Given the description of an element on the screen output the (x, y) to click on. 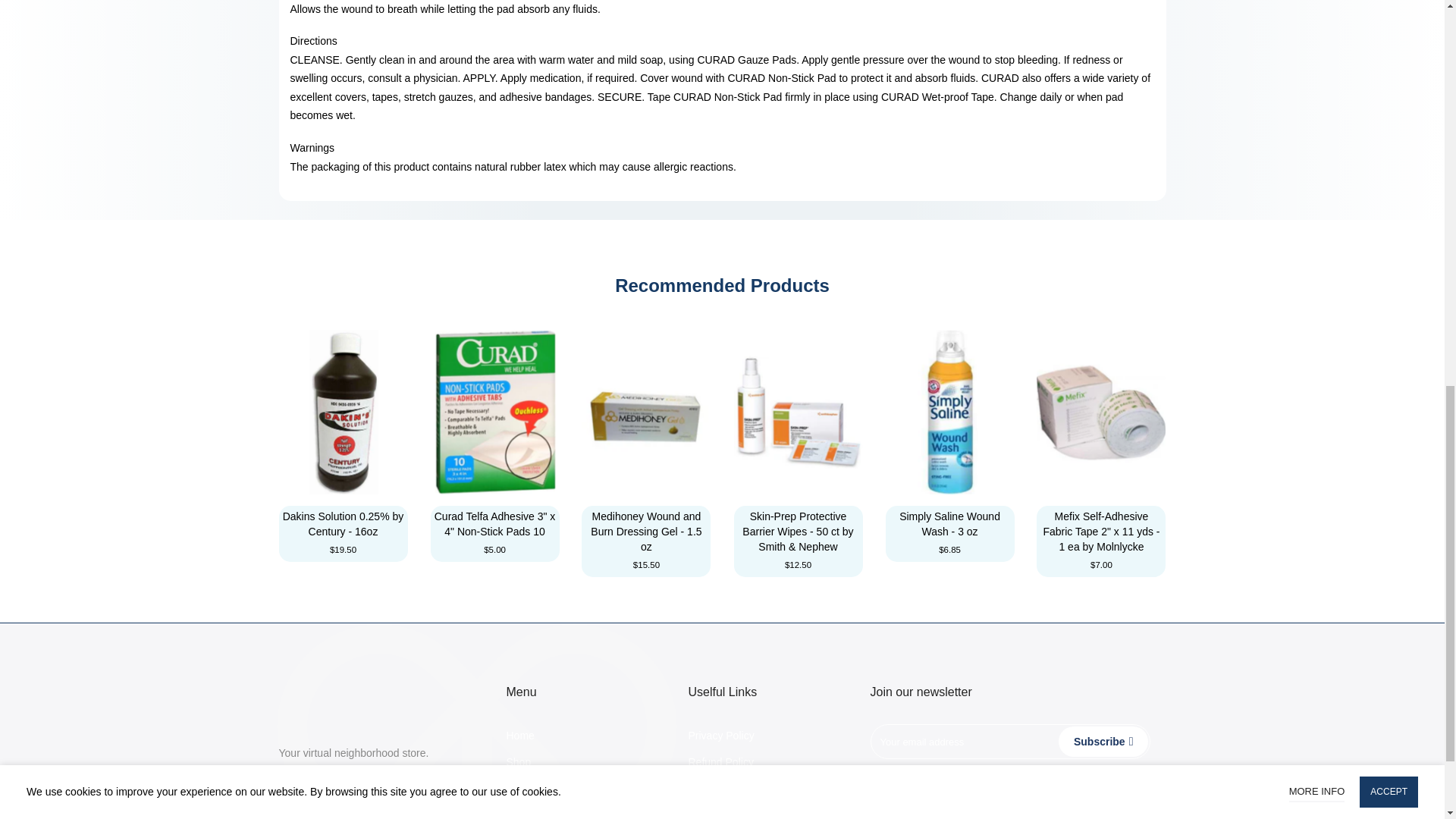
1 (1001, 35)
